Given the description of an element on the screen output the (x, y) to click on. 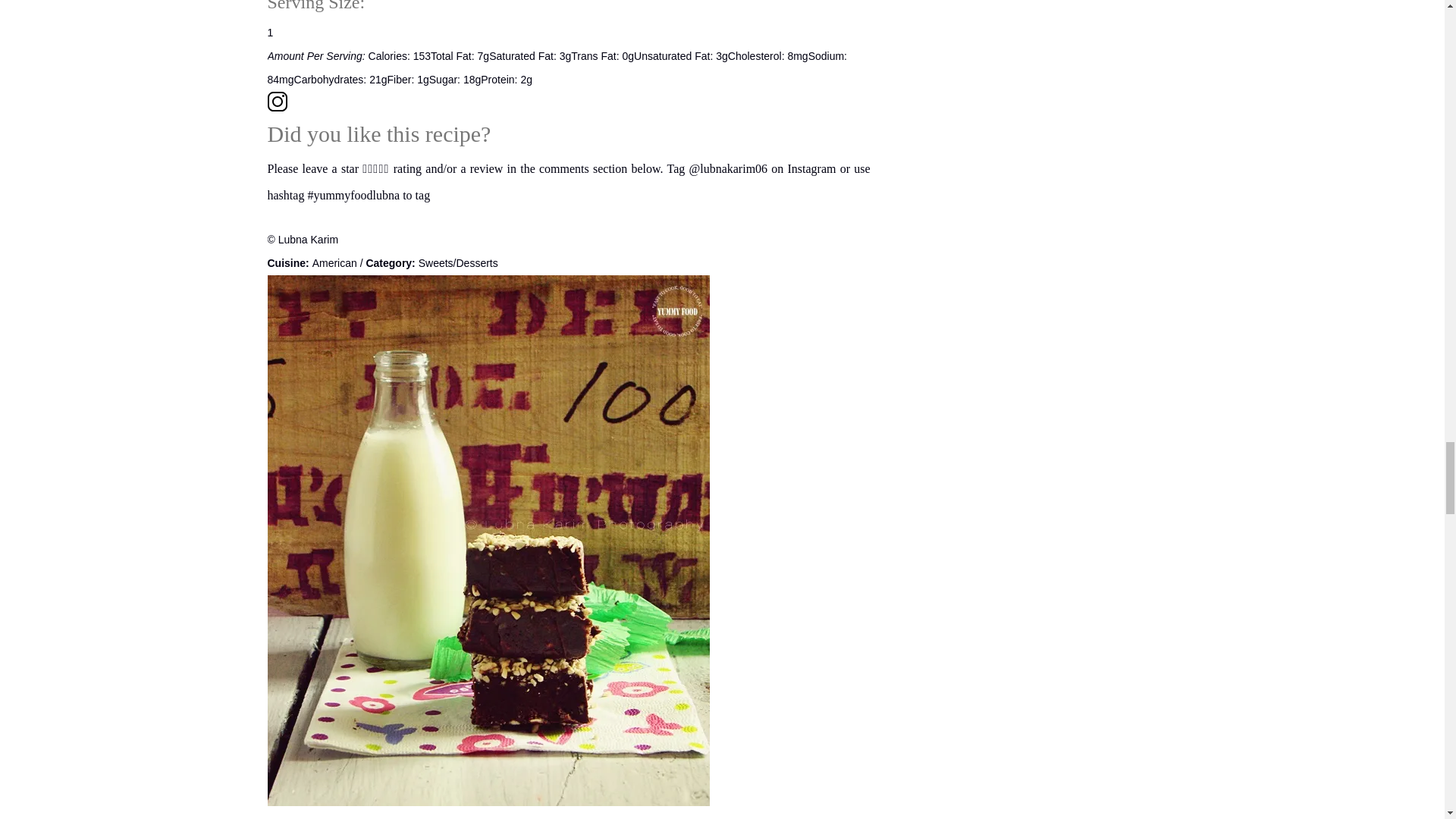
Instagram: lubnakarim06 (569, 105)
